Given the description of an element on the screen output the (x, y) to click on. 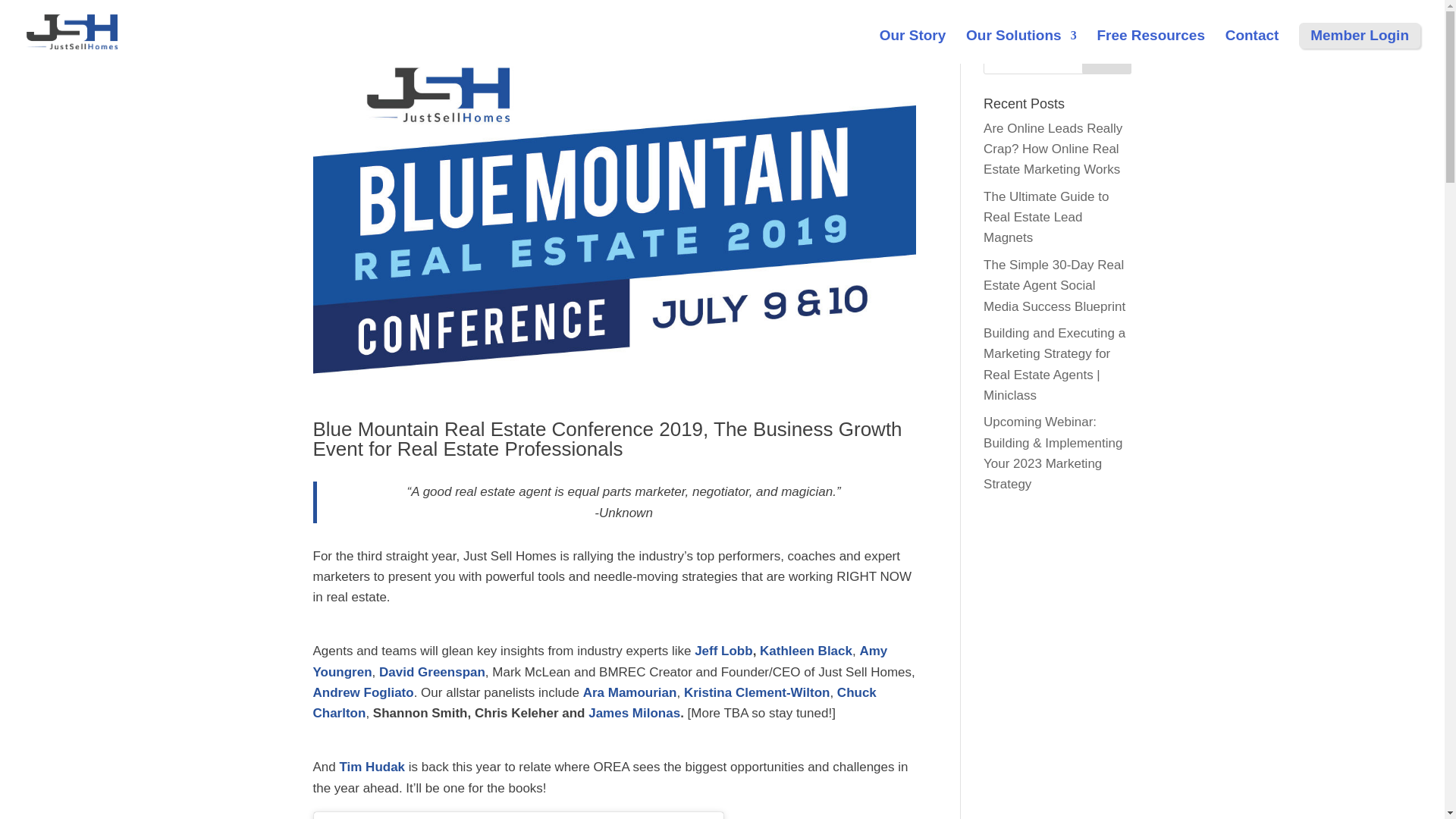
Chuck Charlton (594, 702)
The Ultimate Guide to Real Estate Lead Magnets (1046, 216)
Ara Mamourian (630, 692)
Search (1106, 59)
James Milonas (633, 712)
Member Login (1359, 35)
Search (1106, 59)
Free Resources (1150, 35)
Jeff Lobb (723, 650)
Contact (1252, 35)
Kristina Clement-Wilton (756, 692)
Kathleen Black (805, 650)
Andrew Fogliato (363, 692)
